Given the description of an element on the screen output the (x, y) to click on. 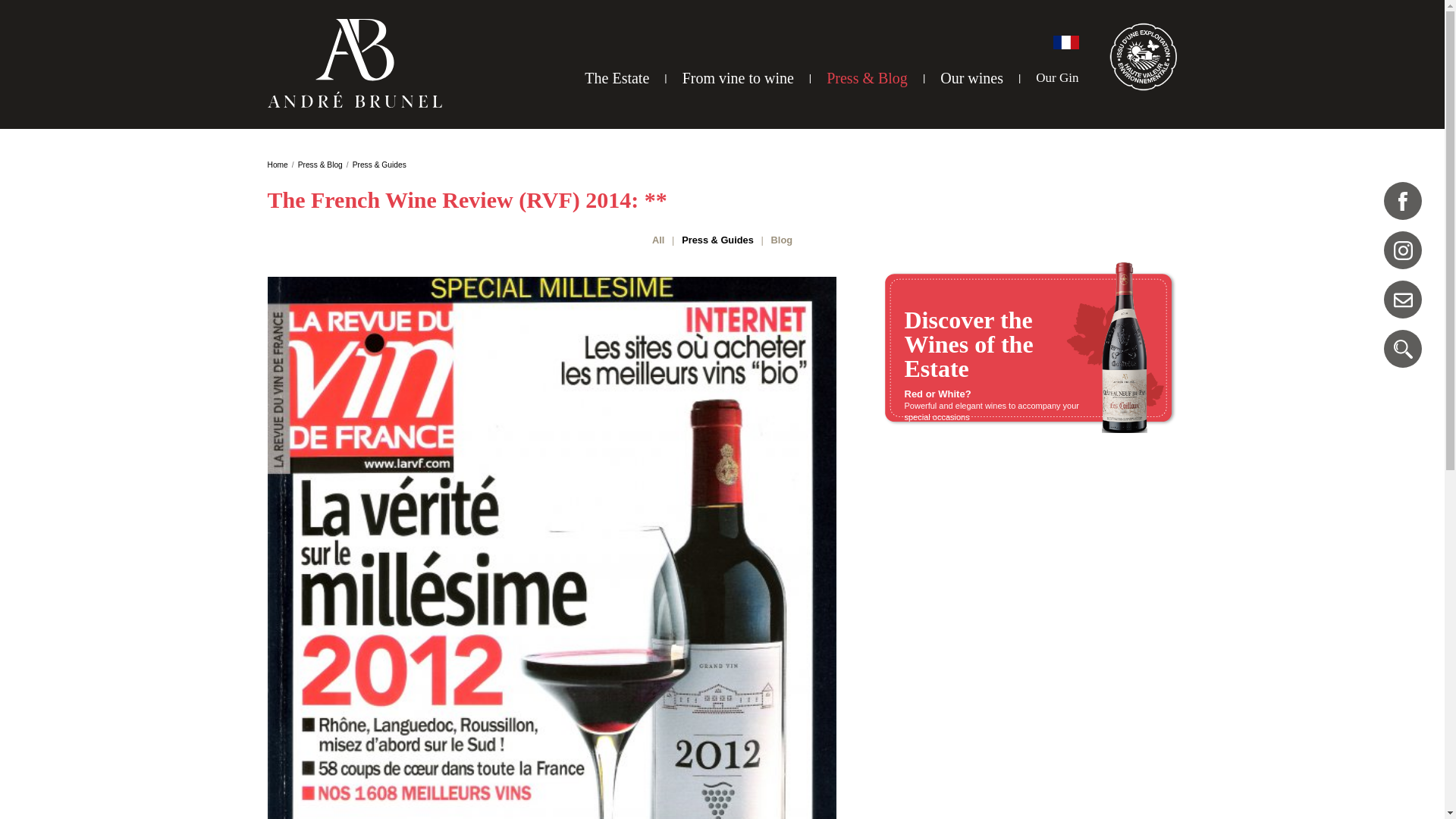
From vine to wine (737, 77)
fr (1065, 42)
Blog (781, 239)
Contact (1403, 299)
All (657, 239)
Search (1403, 348)
Home (276, 164)
All (657, 239)
Facebook (1403, 200)
Instagram (1403, 249)
Search engine (1403, 348)
Home (276, 164)
The Estate (617, 77)
Contact (1403, 299)
